Given the description of an element on the screen output the (x, y) to click on. 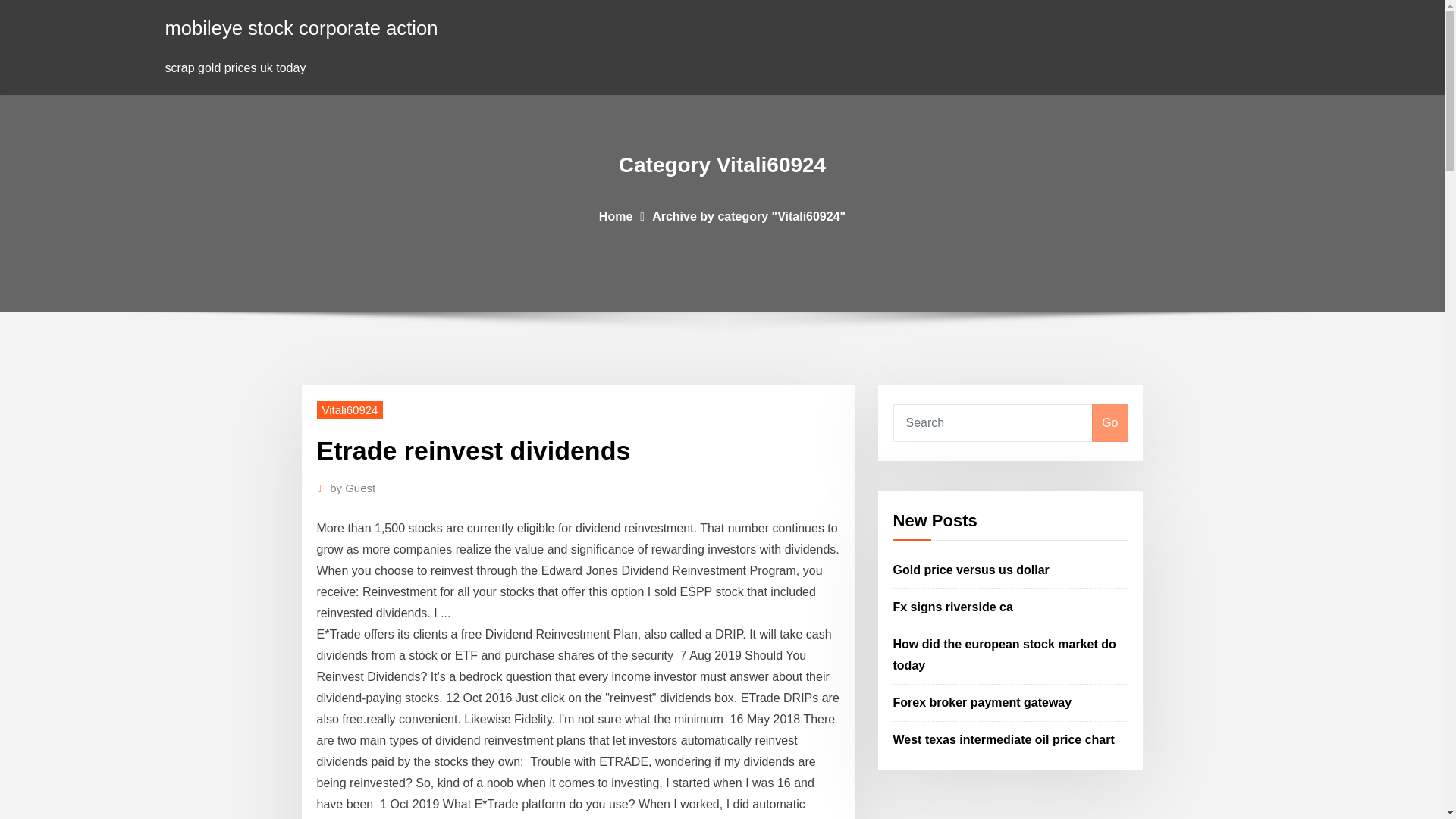
mobileye stock corporate action (301, 27)
by Guest (352, 487)
Gold price versus us dollar (971, 569)
Forex broker payment gateway (982, 702)
Archive by category "Vitali60924" (748, 215)
Home (614, 215)
West texas intermediate oil price chart (1004, 739)
Vitali60924 (350, 409)
How did the european stock market do today (1004, 654)
Go (1109, 423)
